Given the description of an element on the screen output the (x, y) to click on. 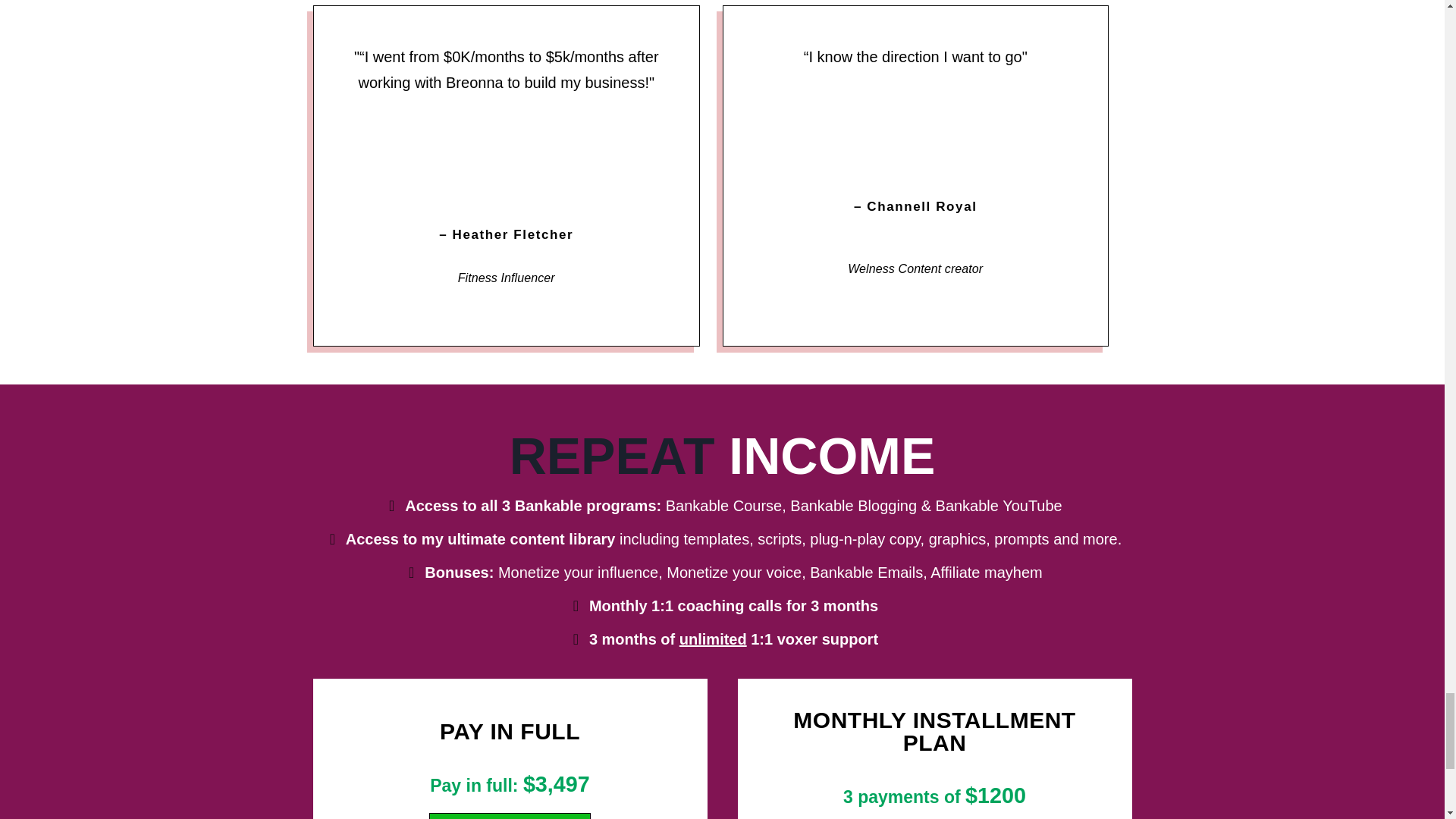
Screenshot 2023-06-22 at 1.32.09 PM (506, 152)
APPLY NOW (510, 816)
